Given the description of an element on the screen output the (x, y) to click on. 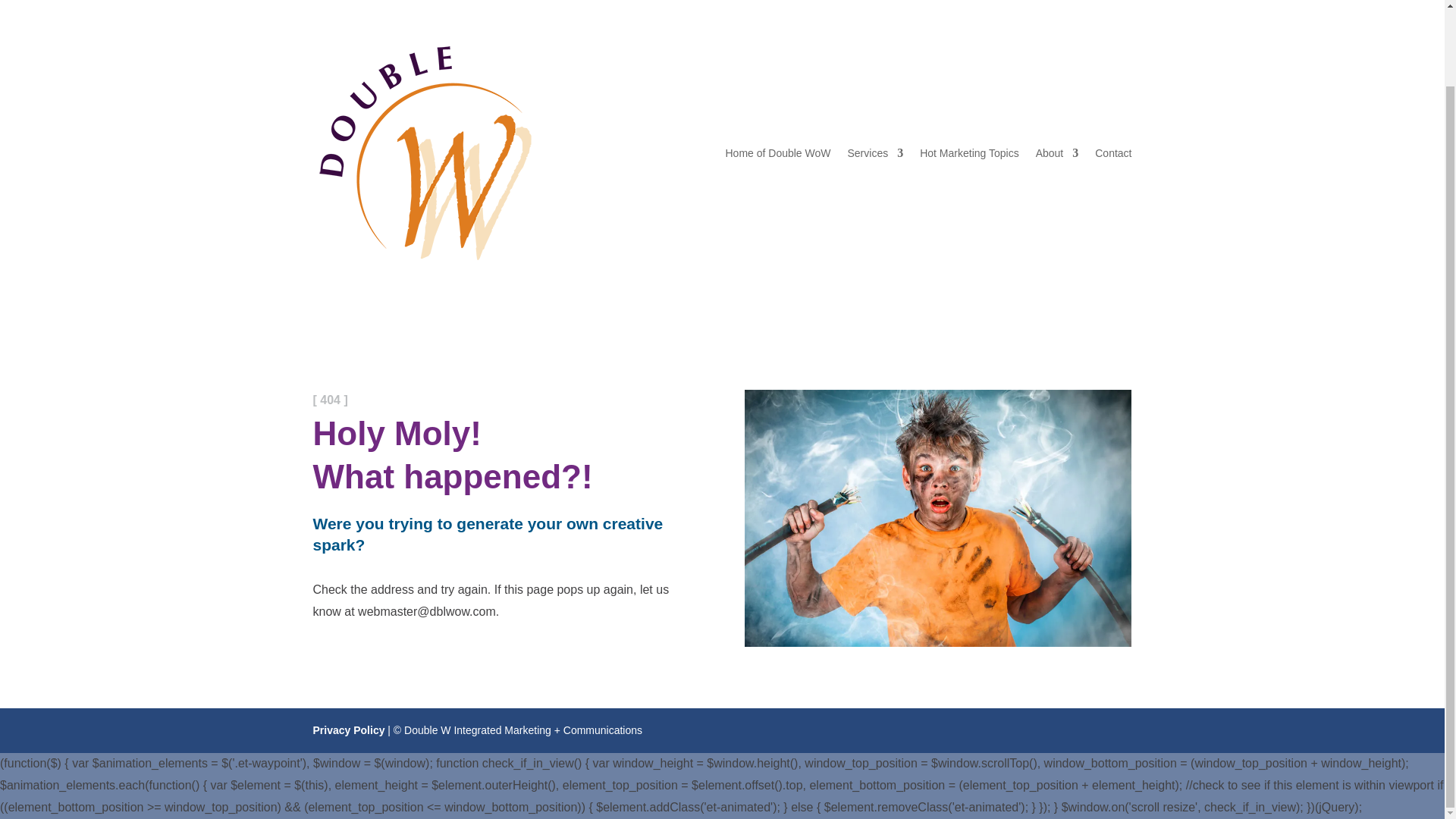
404-error (937, 518)
